Given the description of an element on the screen output the (x, y) to click on. 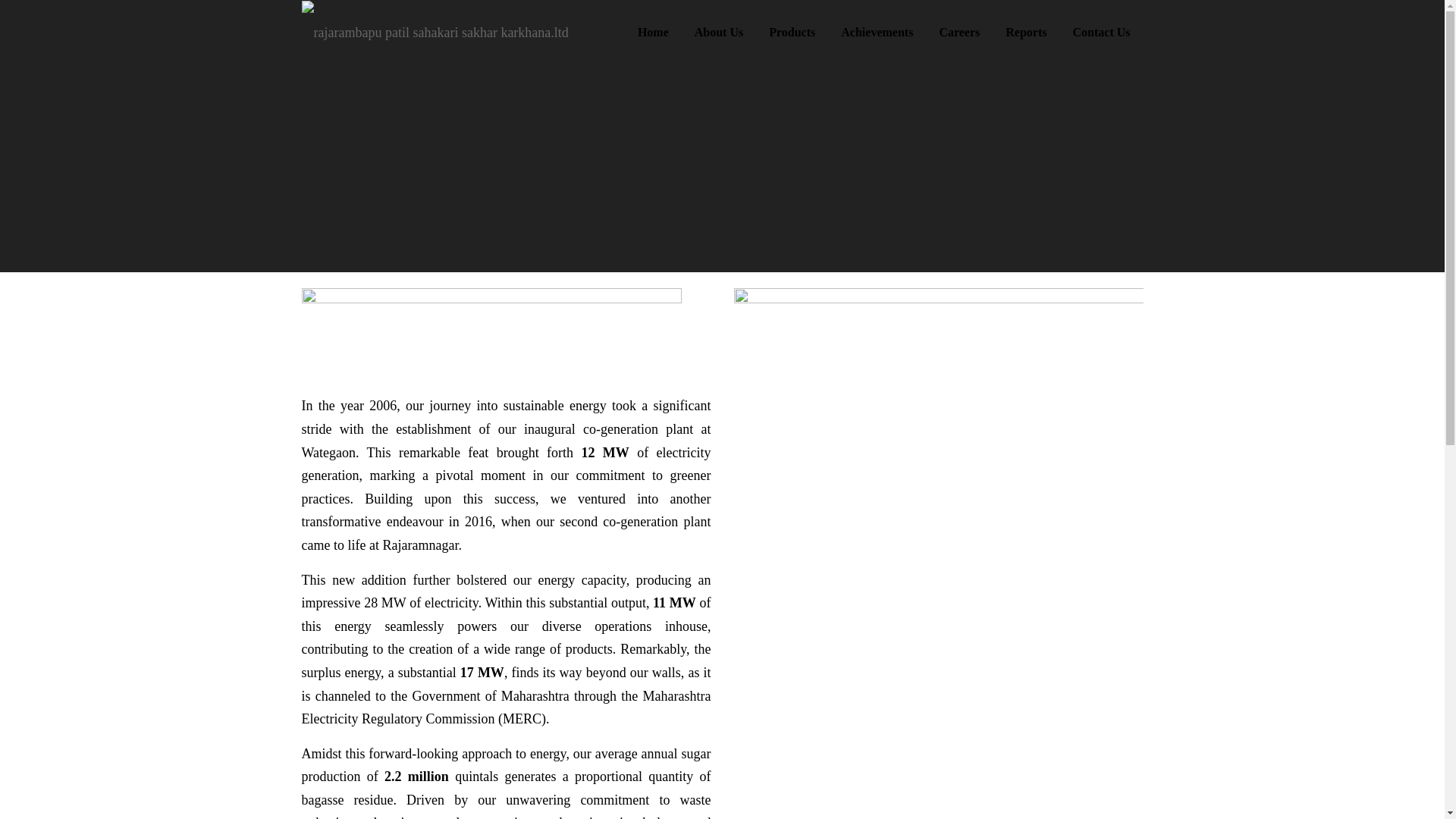
Reports (1025, 32)
Contact Us (1100, 32)
Achievements (877, 32)
Careers (959, 32)
About Us (718, 32)
Products (791, 32)
